Given the description of an element on the screen output the (x, y) to click on. 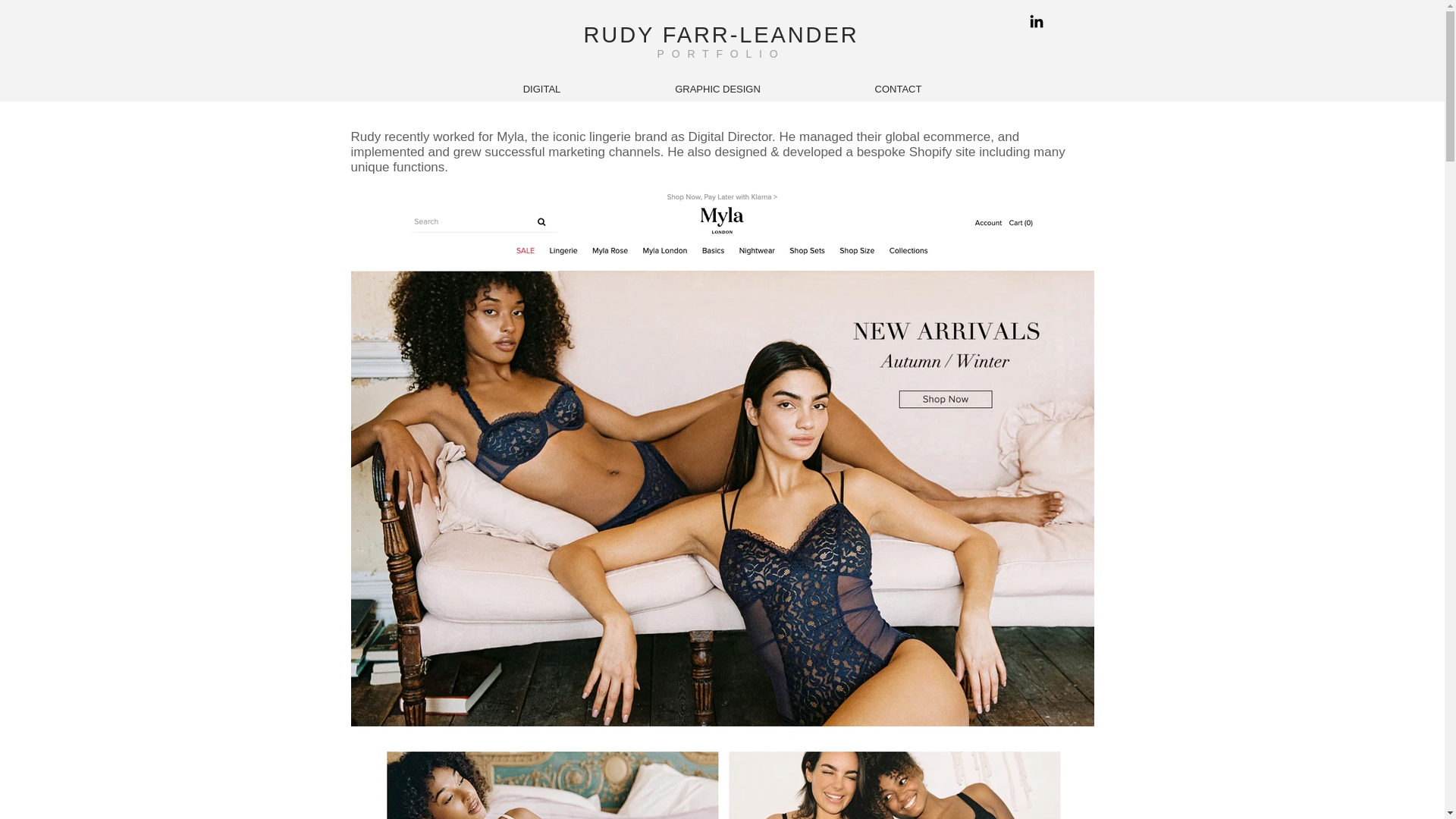
GRAPHIC DESIGN (717, 88)
PORTFOLIO (722, 53)
DIGITAL (541, 88)
CONTACT (897, 88)
RUDY FARR-LEANDER (721, 34)
